Given the description of an element on the screen output the (x, y) to click on. 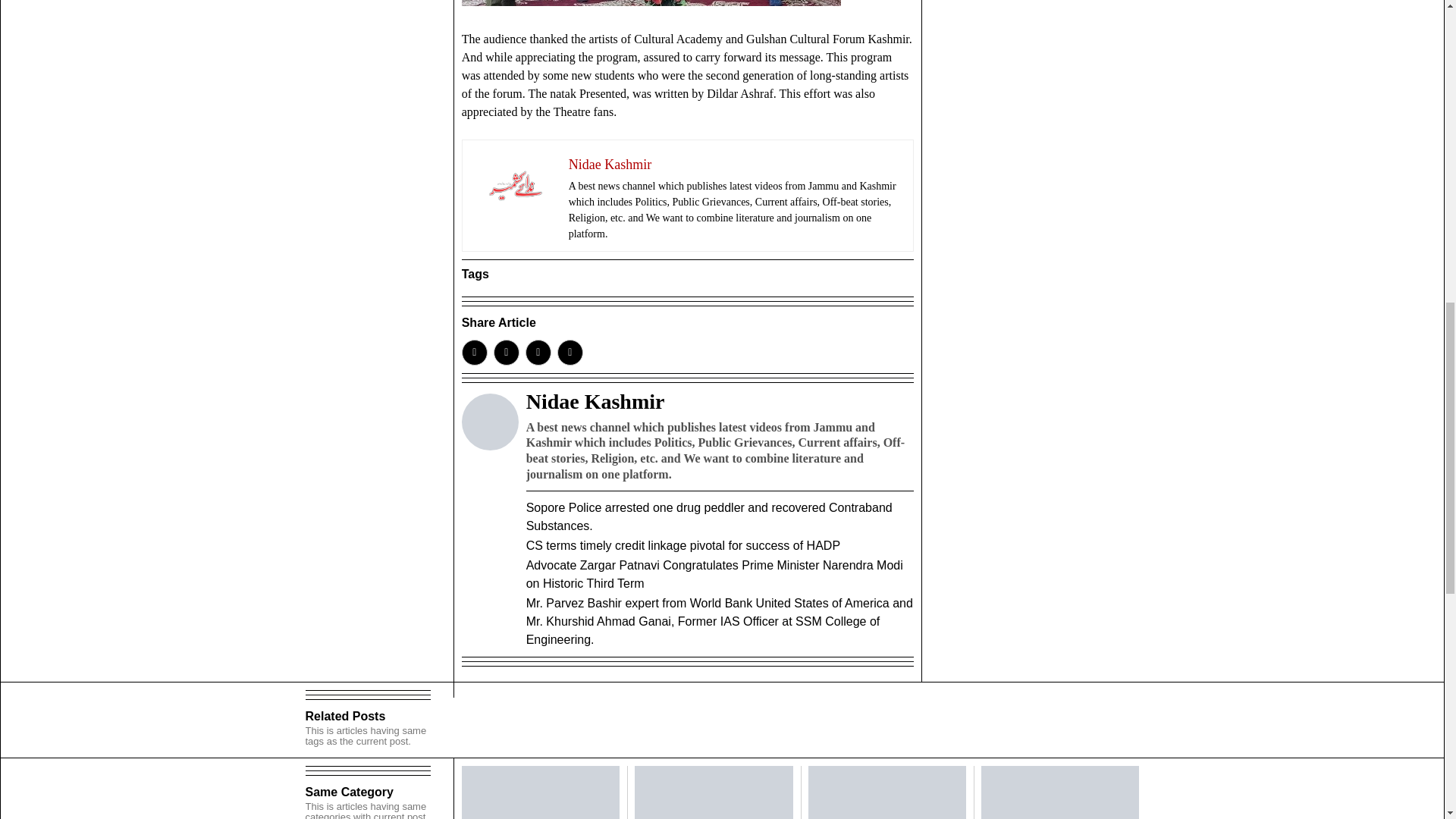
Whatsapp (538, 352)
Email (570, 352)
Twitter (506, 352)
Facebook (474, 352)
